Given the description of an element on the screen output the (x, y) to click on. 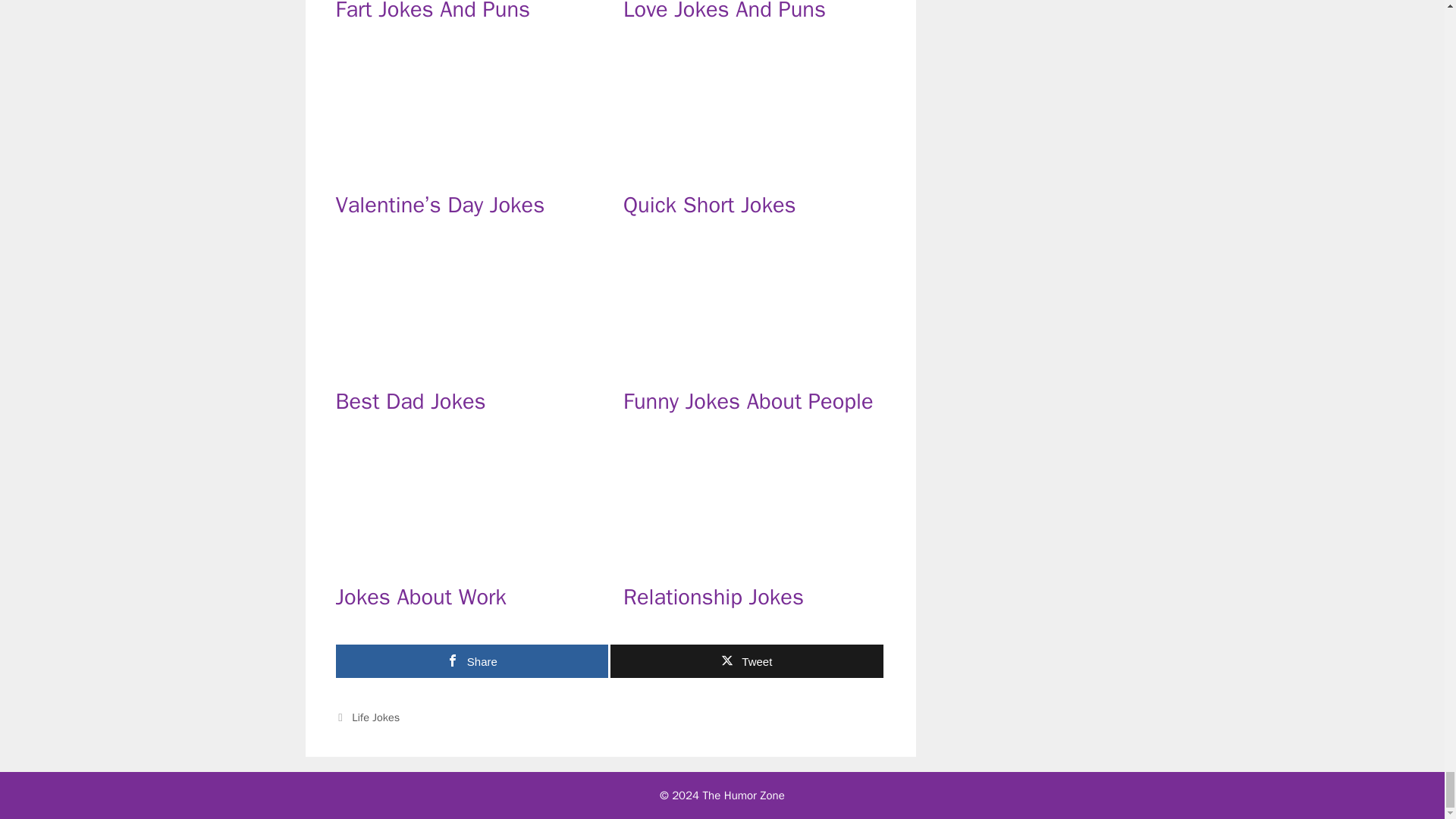
Quick Short Jokes (754, 170)
Fart Jokes And Puns (431, 11)
Love Jokes And Puns (724, 11)
